Given the description of an element on the screen output the (x, y) to click on. 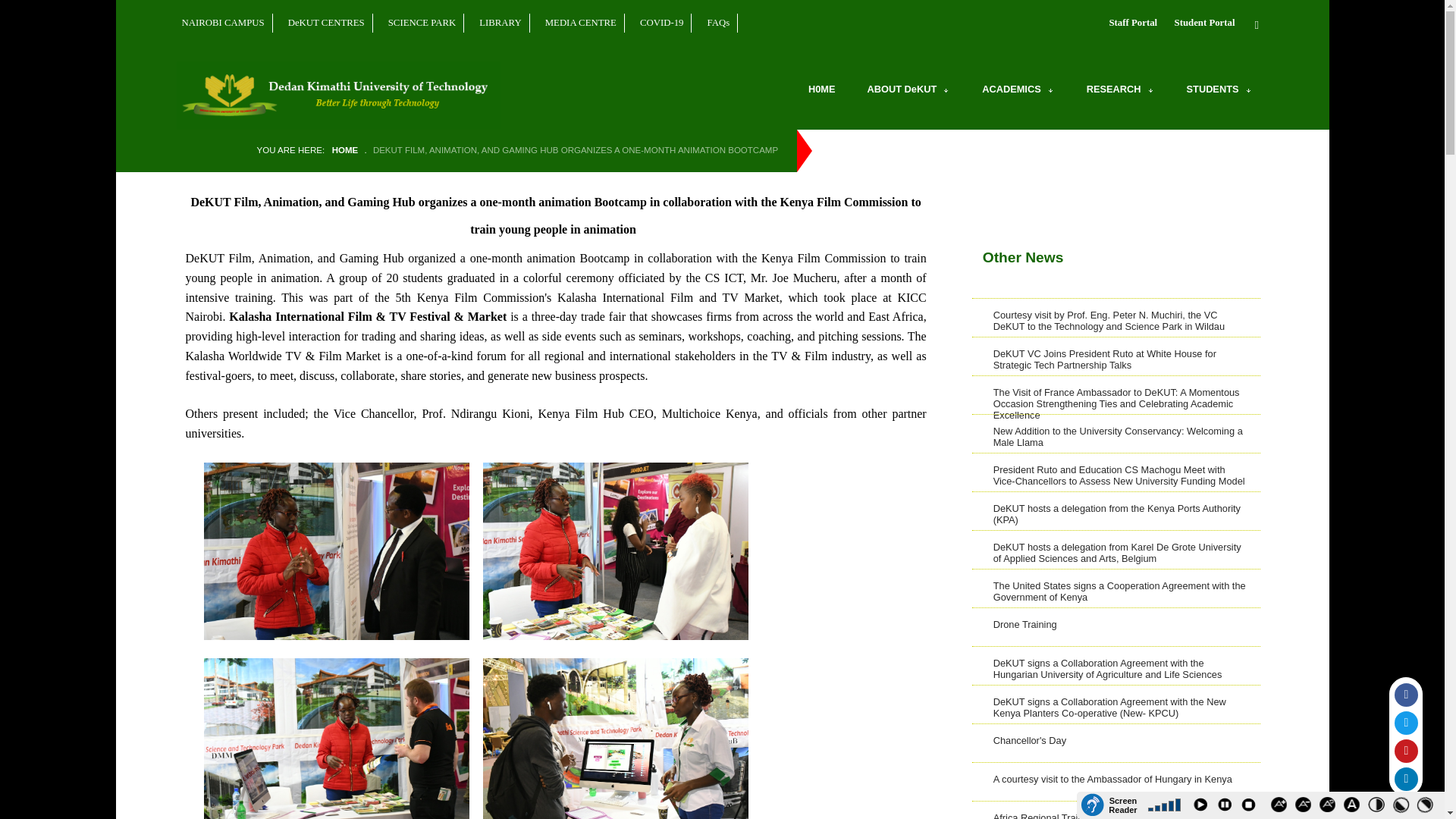
Stop (1251, 807)
Toggle high contrast (1378, 807)
Increase (1281, 807)
Reset (1329, 807)
Dyslexic font (1354, 807)
Toggle high contrast (1402, 807)
Decrease (1305, 807)
Pause (1226, 807)
Toggle high contrast (1427, 807)
Play (1202, 807)
Screen Reader (1110, 804)
